Given the description of an element on the screen output the (x, y) to click on. 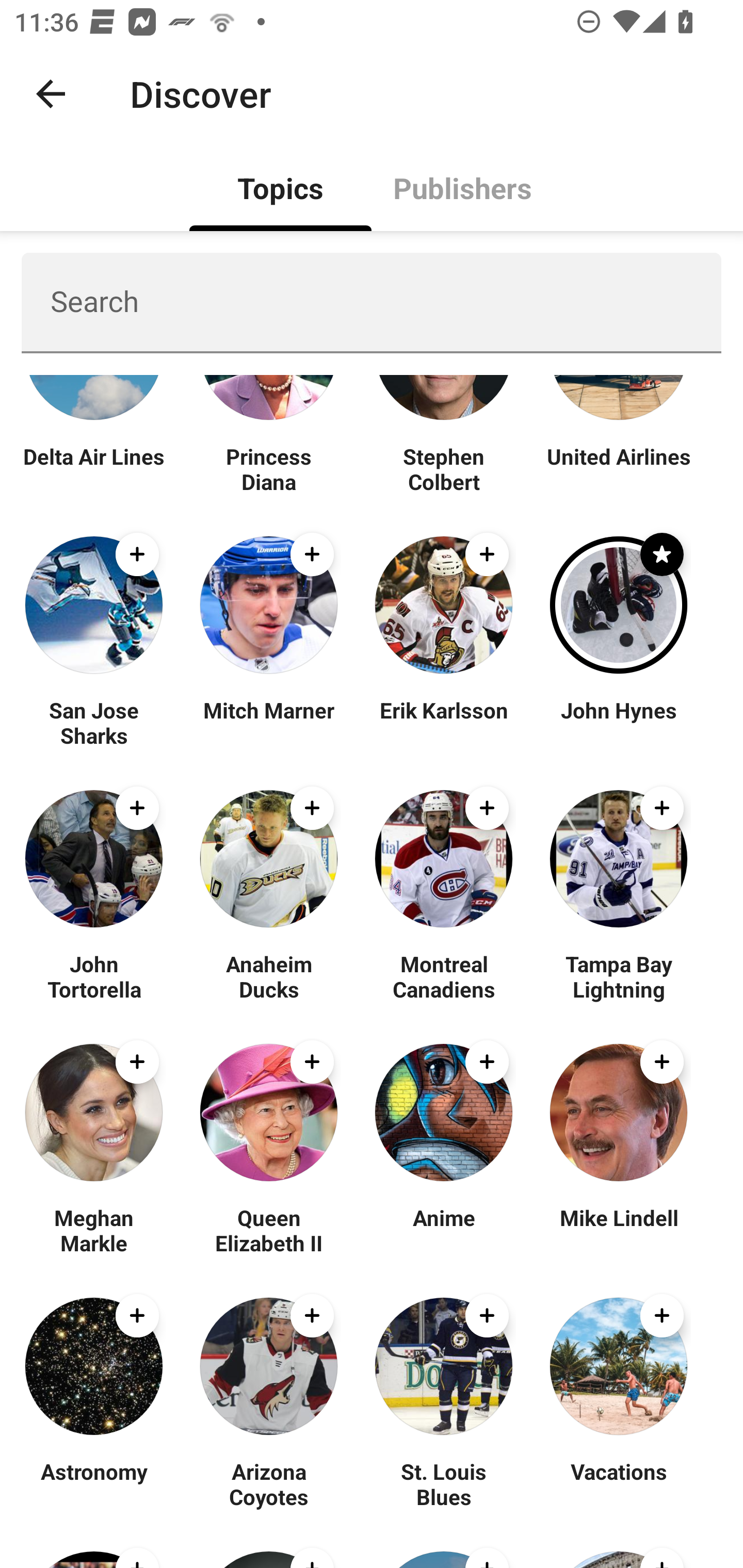
Publishers (462, 187)
Search (371, 302)
Delta Air Lines (93, 468)
Princess Diana (268, 468)
Stephen Colbert (443, 468)
United Airlines (618, 468)
San Jose Sharks (93, 721)
Mitch Marner (268, 721)
Erik Karlsson (443, 721)
John Hynes (618, 721)
John Tortorella (93, 975)
Anaheim Ducks (268, 975)
Montreal Canadiens (443, 975)
Tampa Bay Lightning (618, 975)
Meghan Markle (93, 1229)
Queen Elizabeth II (268, 1229)
Anime (443, 1229)
Mike Lindell (618, 1229)
Astronomy (93, 1483)
Arizona Coyotes (268, 1483)
St. Louis Blues (443, 1483)
Vacations (618, 1483)
